Given the description of an element on the screen output the (x, y) to click on. 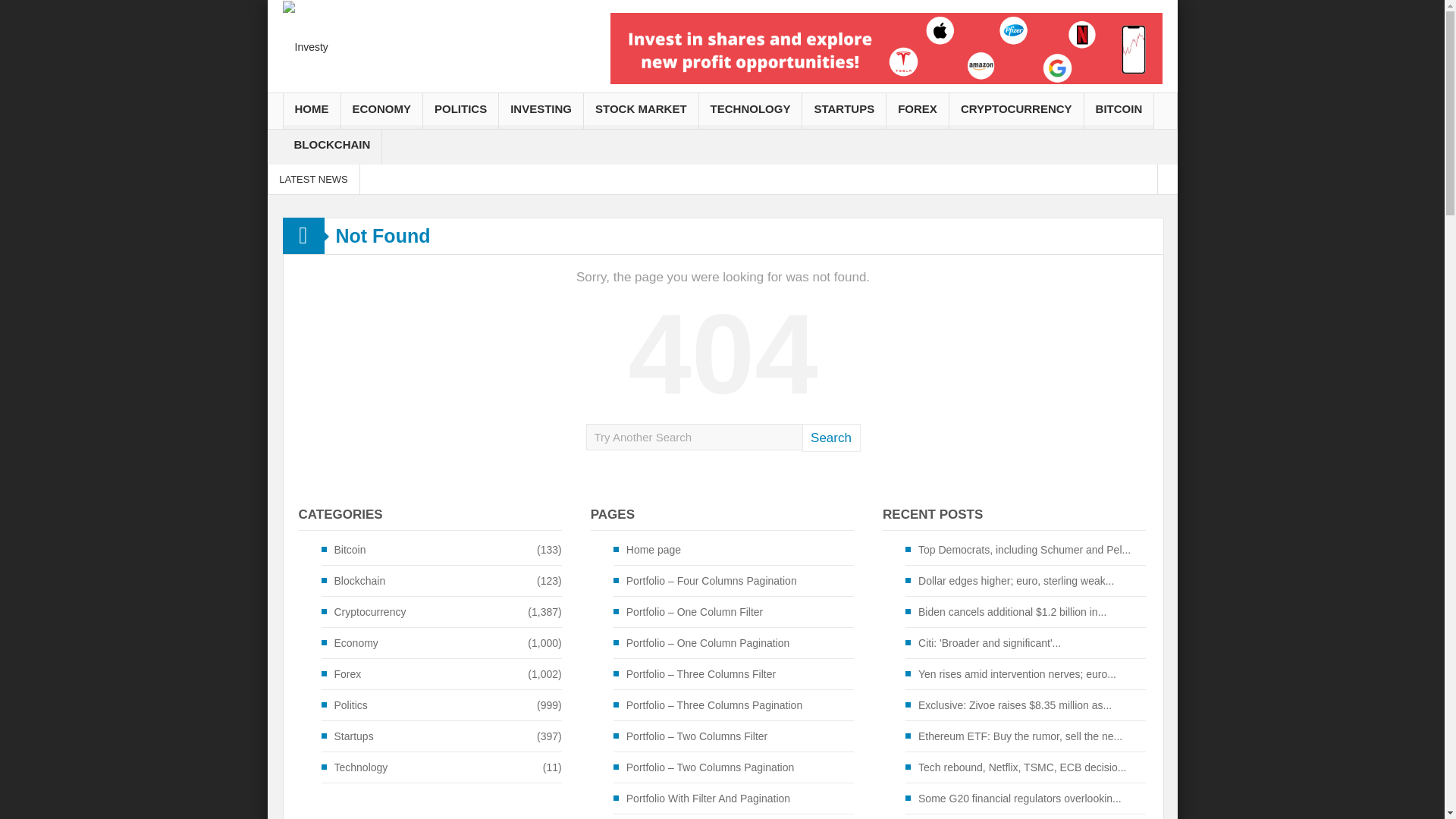
FOREX (917, 110)
Ethereum ETF: Buy the rumor, sell the news? (812, 178)
CRYPTOCURRENCY (1016, 110)
Try Another Search (693, 437)
STARTUPS (843, 110)
HOME (311, 110)
BLOCKCHAIN (331, 146)
TECHNOLOGY (750, 110)
Try Another Search (693, 437)
Search for: (693, 437)
BITCOIN (1119, 110)
STOCK MARKET (640, 110)
Investy (304, 46)
INVESTING (541, 110)
ECONOMY (381, 110)
